Given the description of an element on the screen output the (x, y) to click on. 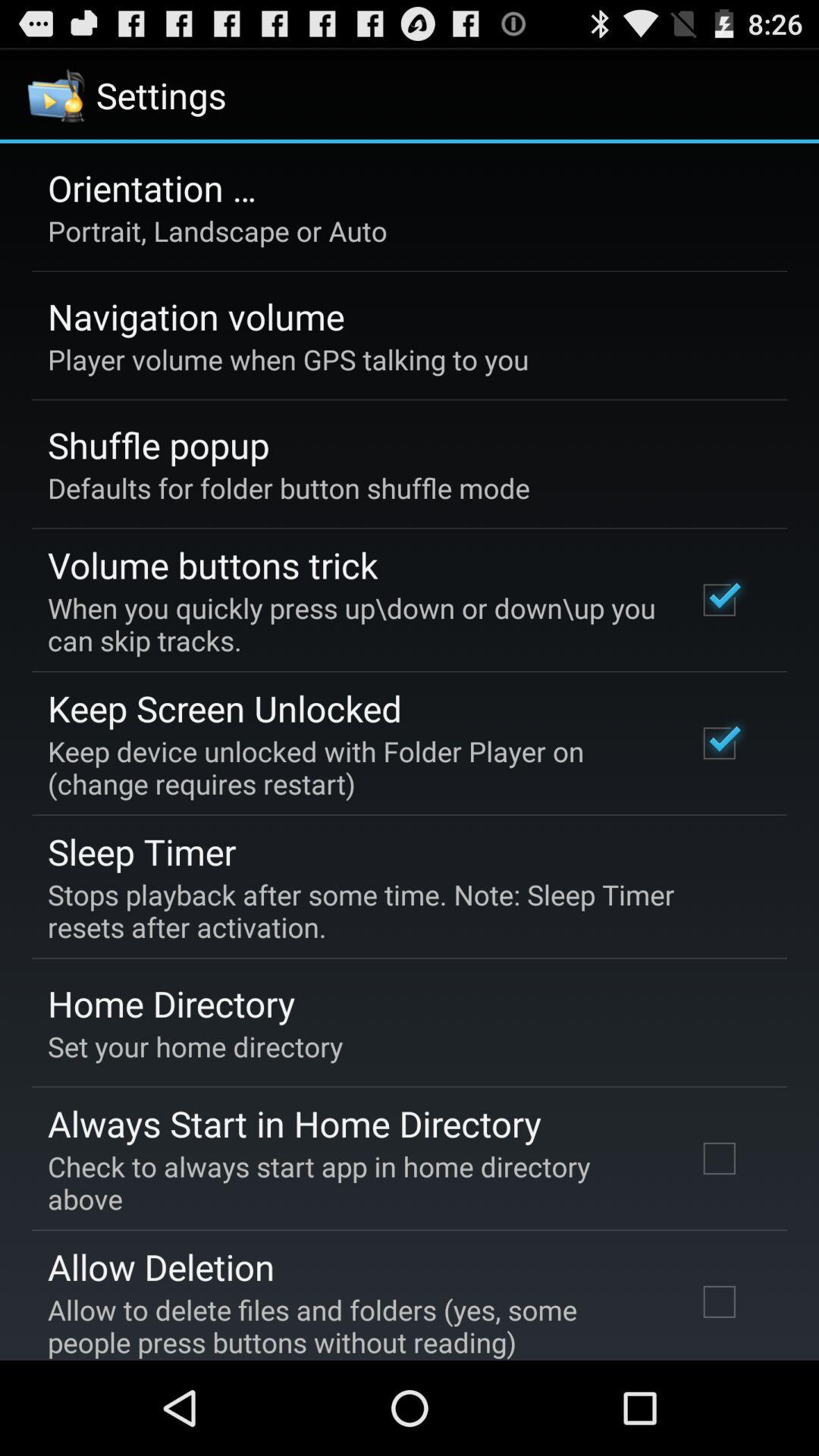
tap the item below the always start in (351, 1182)
